Given the description of an element on the screen output the (x, y) to click on. 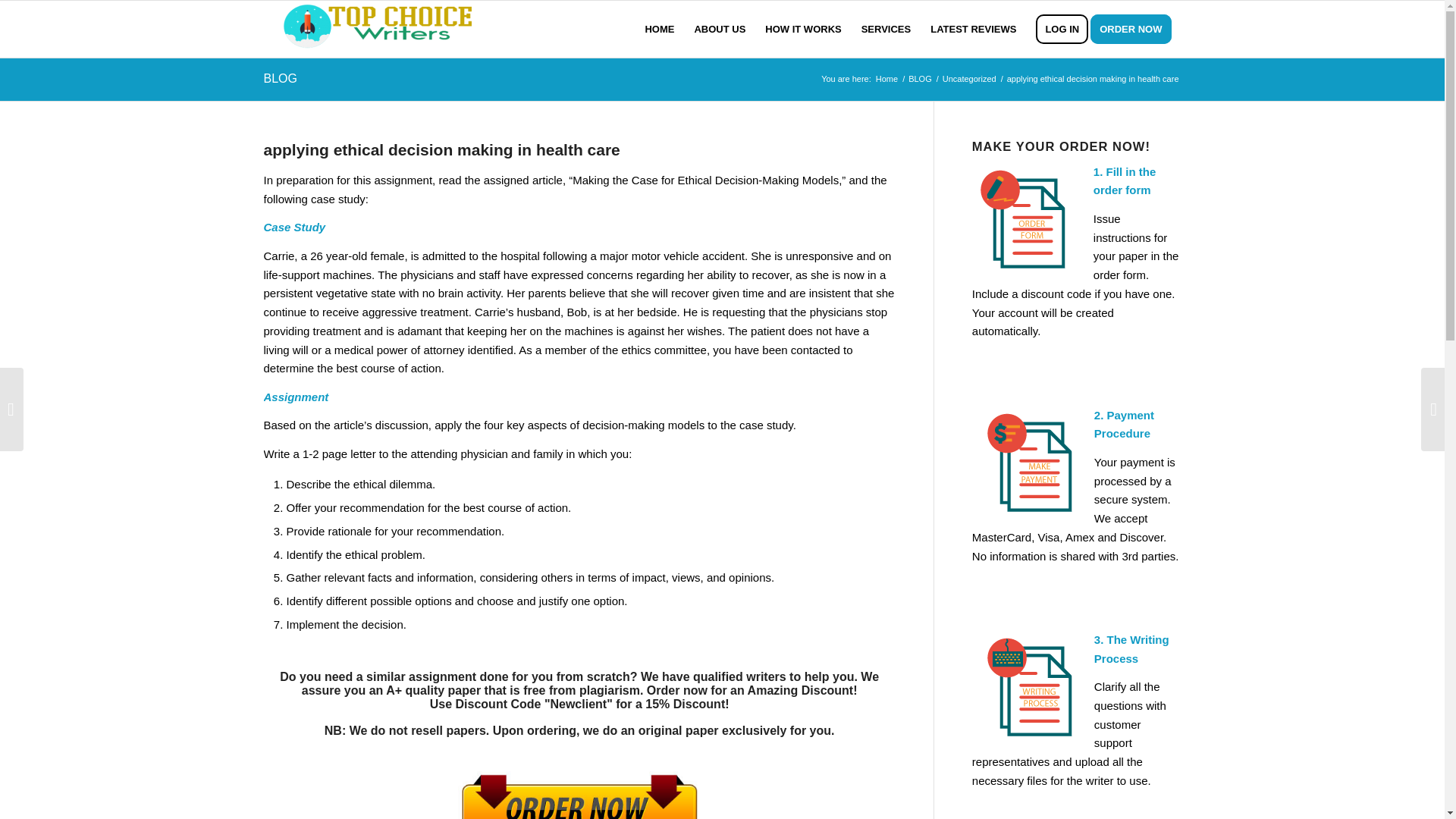
ABOUT US (719, 28)
LOG IN (1061, 28)
BLOG (919, 79)
applying ethical decision making in health care (441, 149)
SERVICES (886, 28)
topchoicewriters.com (886, 79)
BLOG (919, 79)
Home (886, 79)
BLOG (280, 78)
